Given the description of an element on the screen output the (x, y) to click on. 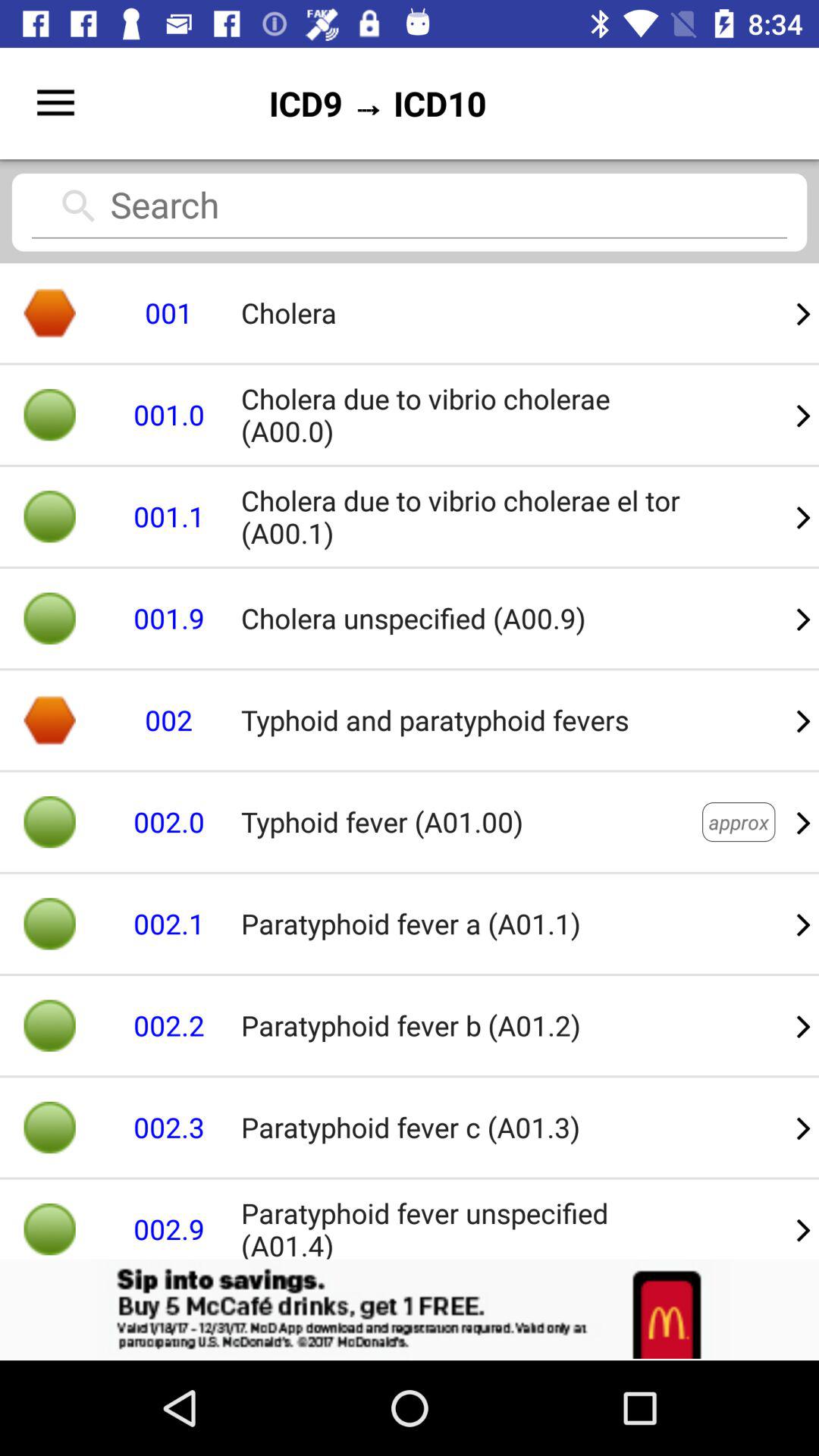
select the icon next to the cholera due to icon (803, 618)
